Given the description of an element on the screen output the (x, y) to click on. 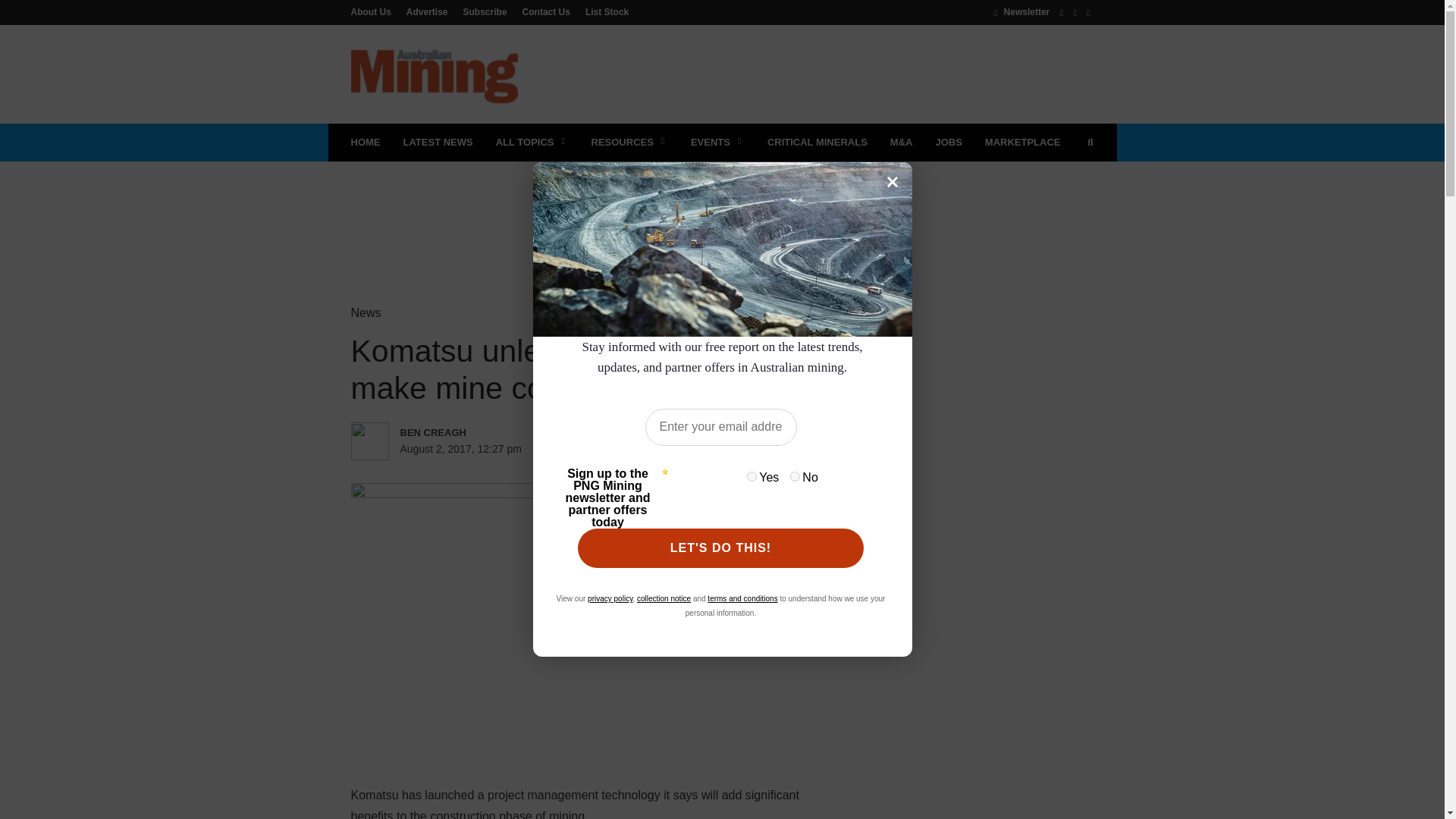
3rd party ad content (721, 210)
Newsletter (1021, 11)
Contact Us (546, 11)
3rd party ad content (817, 74)
LATEST NEWS (437, 142)
View all posts by Ben Creagh (465, 432)
Share on Print (697, 449)
About Us (373, 11)
Share on Copy Link (759, 449)
Advertise (426, 11)
List Stock (603, 11)
ALL TOPICS (531, 142)
Share on LinkedIn (665, 449)
Share on Email (728, 449)
Subscribe (485, 11)
